Given the description of an element on the screen output the (x, y) to click on. 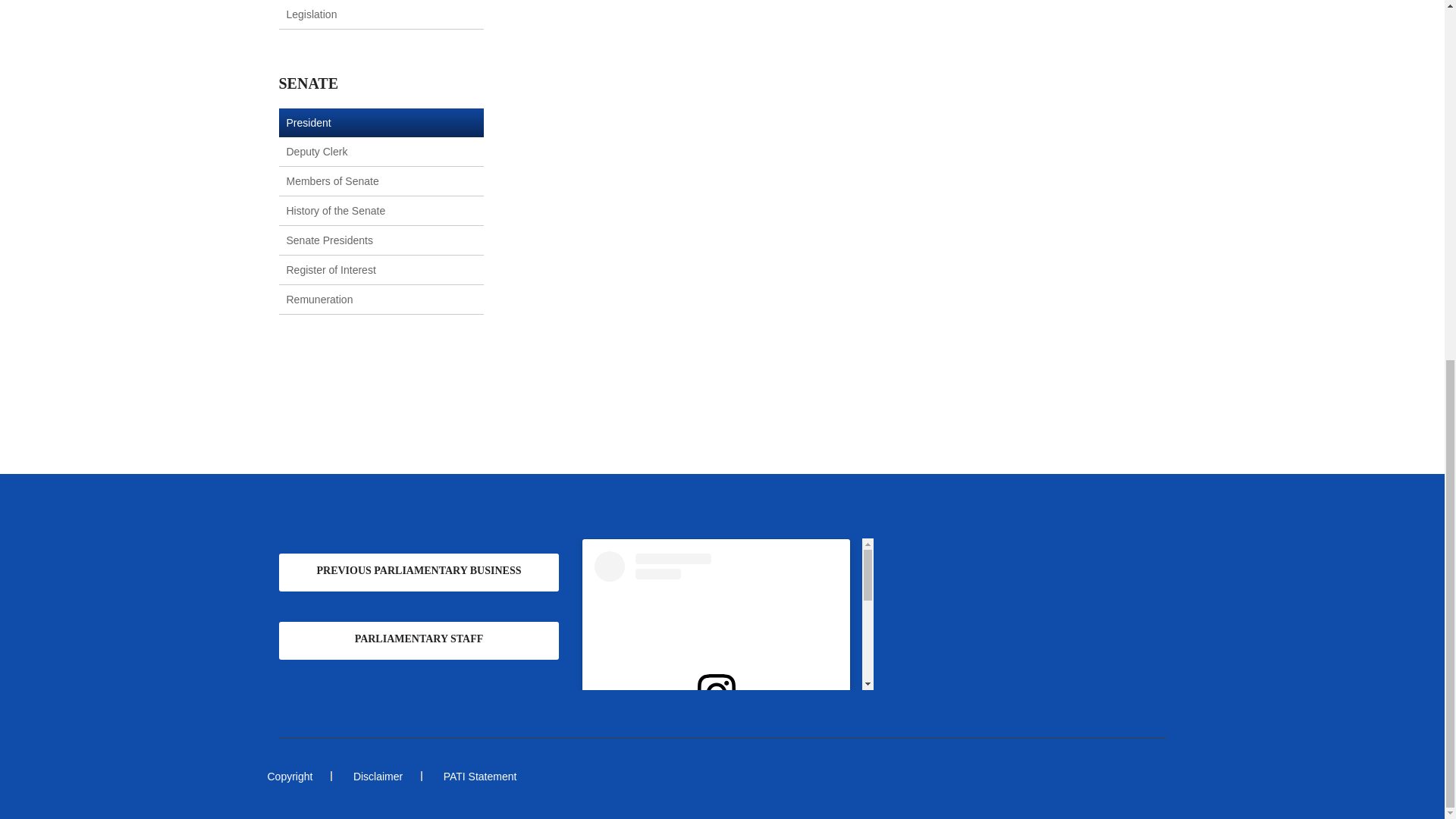
Remuneration (319, 299)
Deputy Clerk (316, 151)
Senate Presidents (329, 240)
PREVIOUS PARLIAMENTARY BUSINESS (419, 572)
fb:page Facebook Social Plugin (1013, 614)
Register of Interest (330, 269)
PARLIAMENTARY STAFF (419, 640)
President (308, 122)
The Reproduction of Bermuda Legislation (357, 10)
History of the Senate (335, 210)
